Given the description of an element on the screen output the (x, y) to click on. 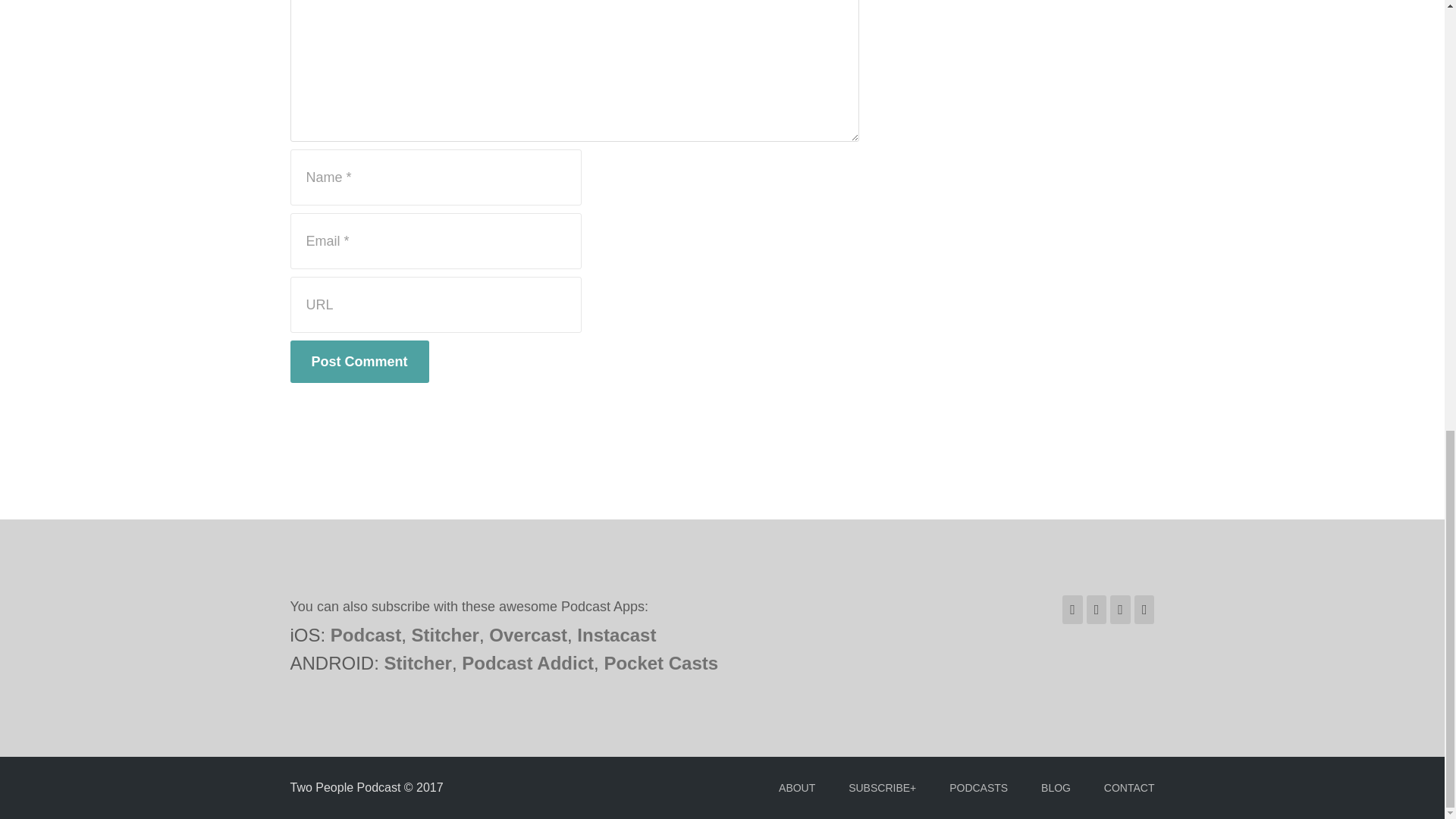
Stitcher (417, 662)
Podcast Addict (527, 662)
Stitcher (445, 634)
Instacast (616, 634)
PODCASTS (978, 787)
Post Comment (358, 361)
BLOG (1055, 787)
Overcast (528, 634)
Podcast (365, 634)
ABOUT (796, 787)
CONTACT (1128, 787)
Pocket Casts (660, 662)
Post Comment (358, 361)
